Given the description of an element on the screen output the (x, y) to click on. 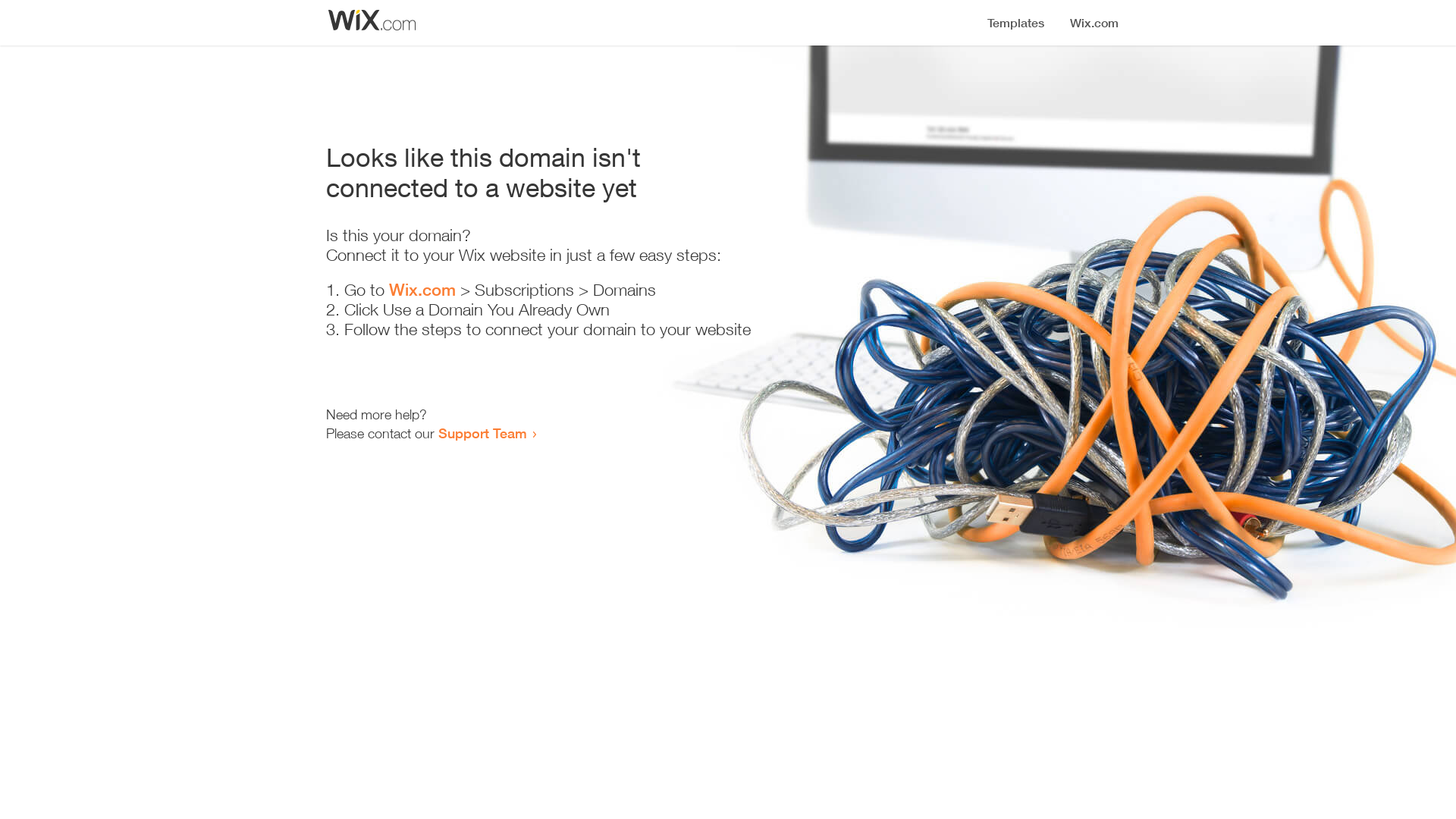
Support Team Element type: text (482, 432)
Wix.com Element type: text (422, 289)
